Given the description of an element on the screen output the (x, y) to click on. 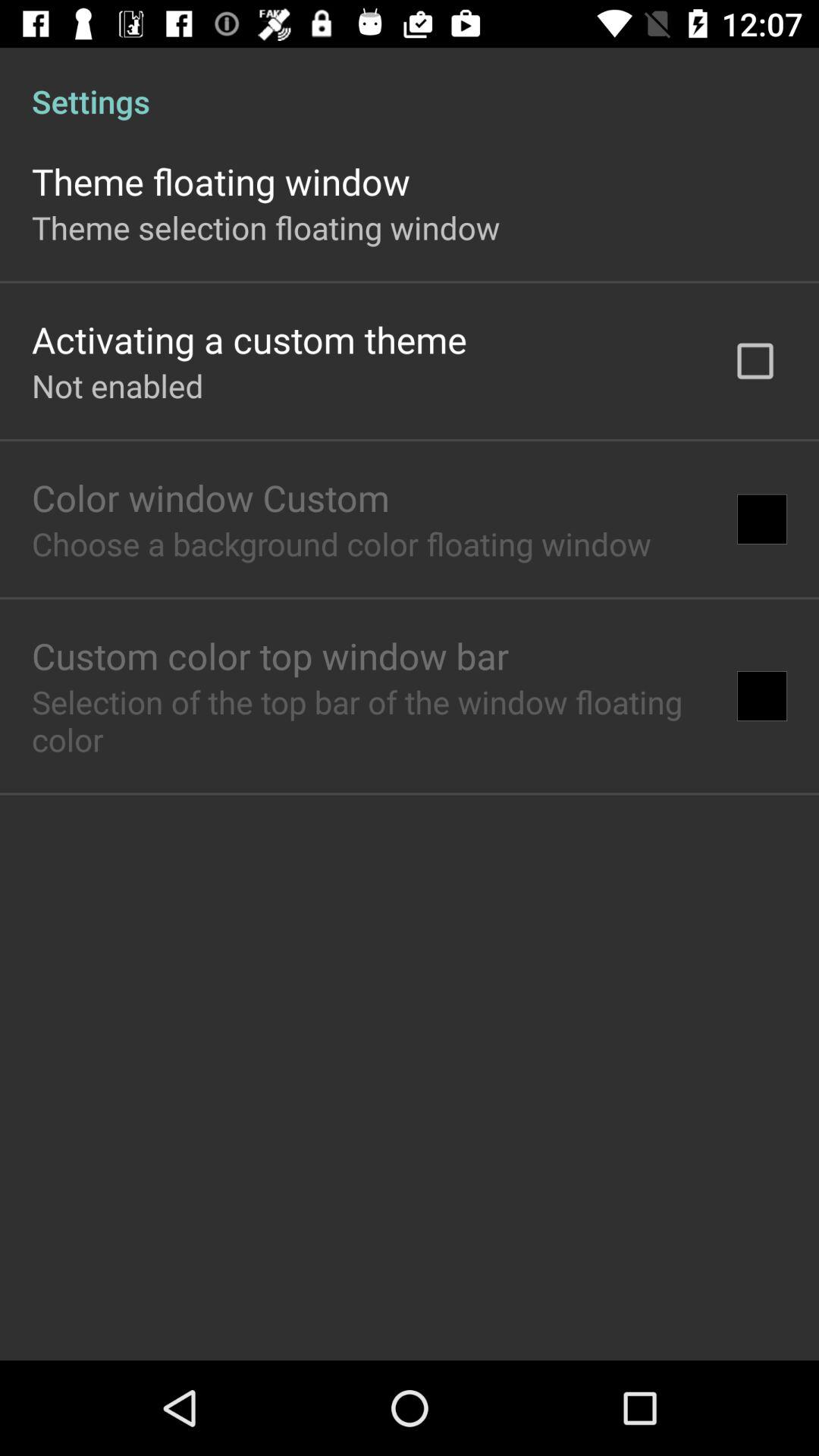
scroll to not enabled (117, 385)
